Given the description of an element on the screen output the (x, y) to click on. 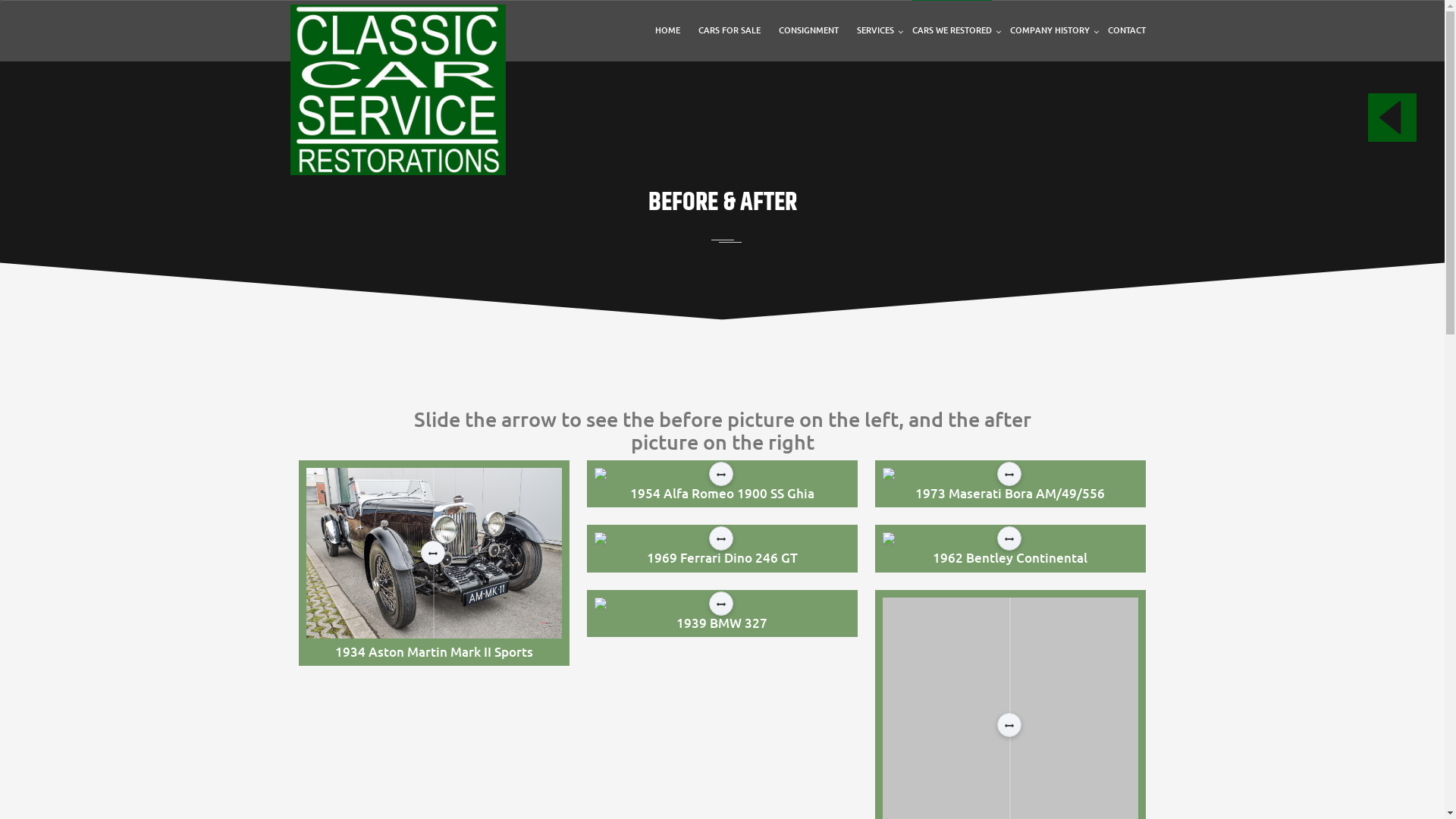
CARS WE RESTORED Element type: text (951, 29)
CONTACT Element type: text (1126, 29)
CONSIGNMENT Element type: text (807, 29)
HOME Element type: text (667, 29)
CARS FOR SALE Element type: text (728, 29)
SERVICES Element type: text (875, 29)
COMPANY HISTORY Element type: text (1049, 29)
